Given the description of an element on the screen output the (x, y) to click on. 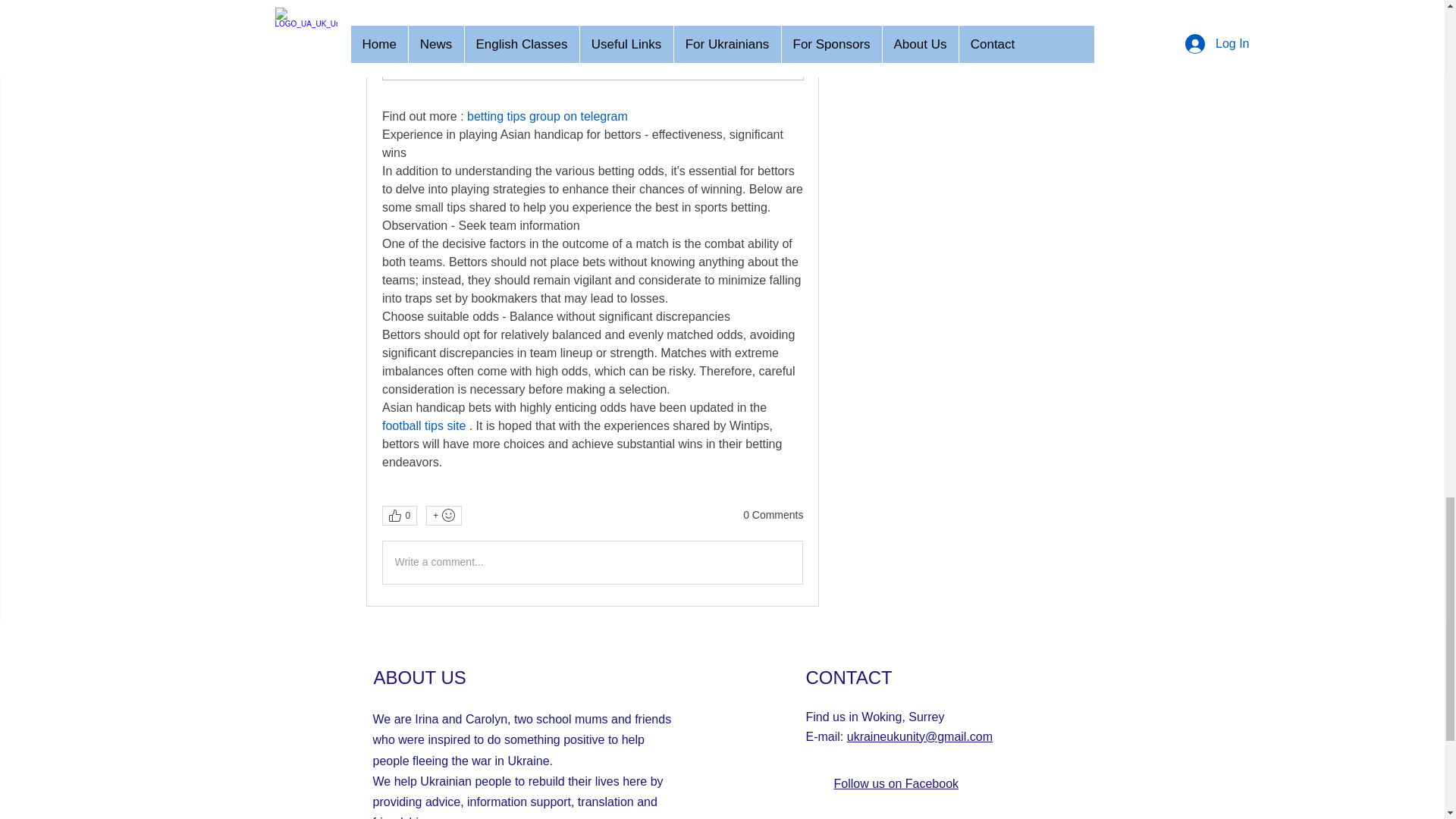
betting tips group on telegram (547, 116)
football tips site (423, 426)
Write a comment... (591, 562)
0 Comments (772, 515)
